Given the description of an element on the screen output the (x, y) to click on. 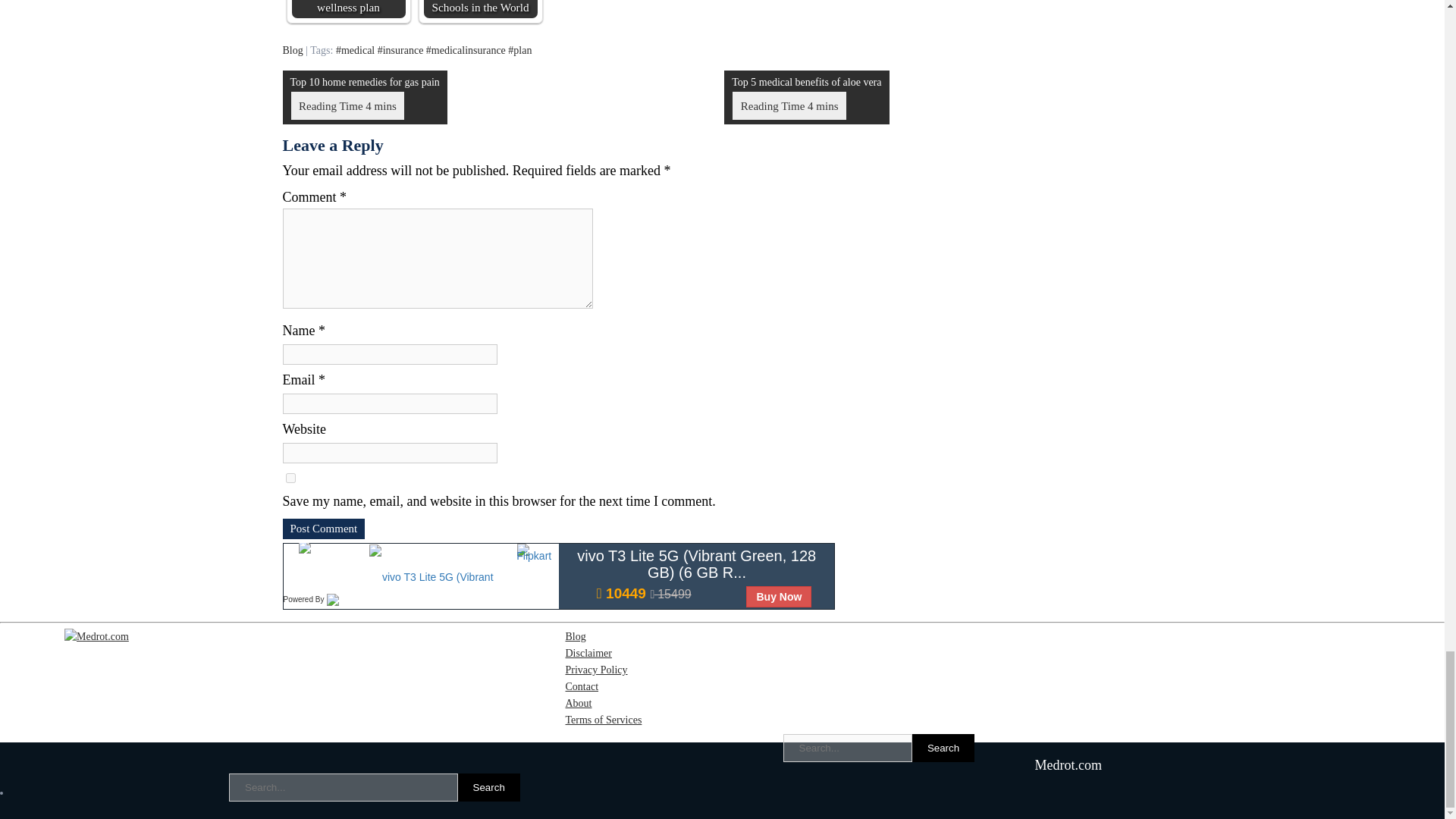
Top 10 home remedies for gas pain (364, 97)
Post Comment (323, 528)
Top 5 medical benefits of aloe vera (805, 97)
Search (488, 787)
The Top 10 Medical Schools in the World (480, 9)
Precision Medicine: how to create a wellness plan (347, 9)
yes (290, 478)
Search (943, 747)
Blog (292, 50)
Search (488, 787)
Search (943, 747)
